Given the description of an element on the screen output the (x, y) to click on. 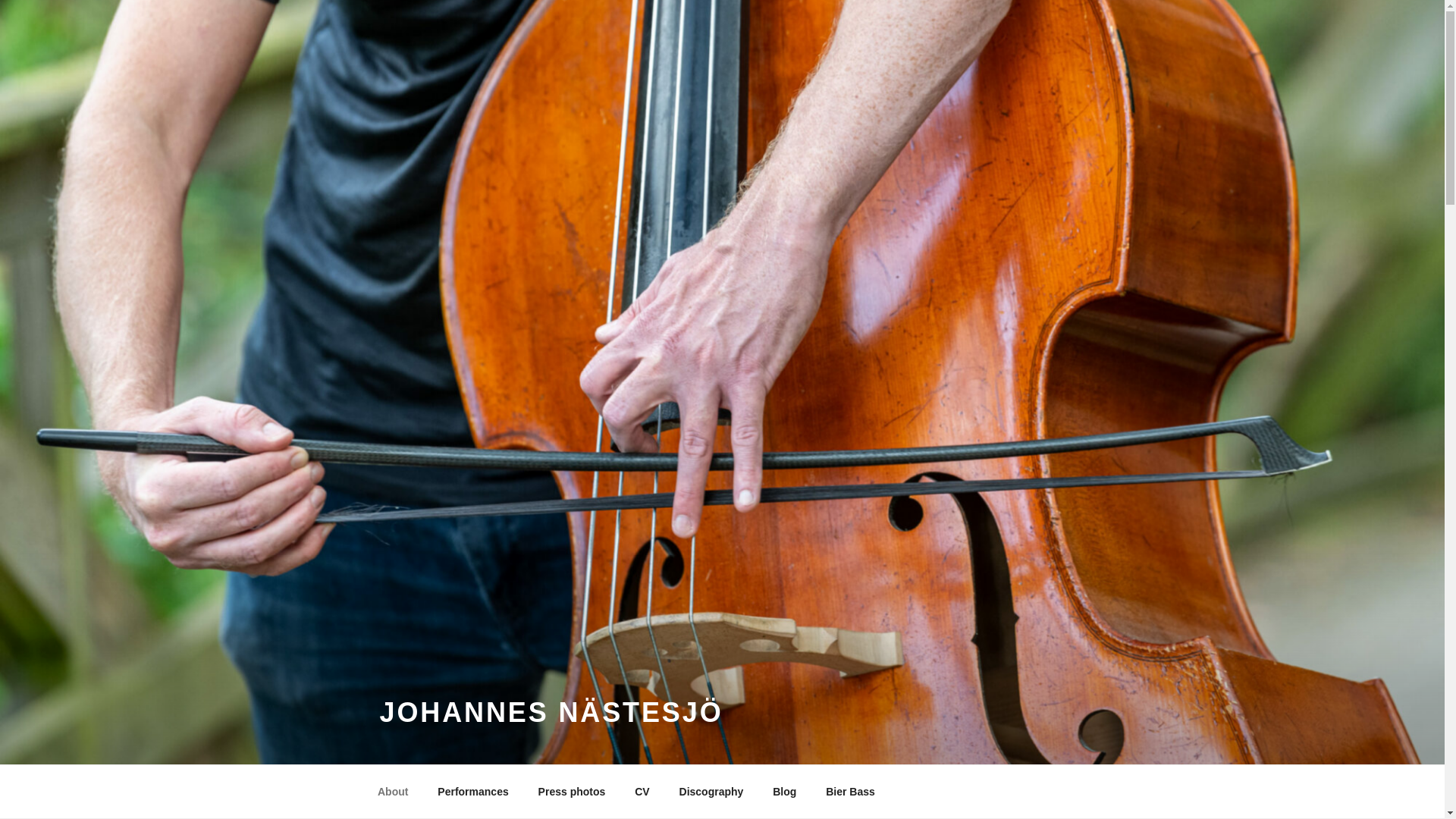
Performances (473, 791)
About (392, 791)
Blog (784, 791)
Press photos (571, 791)
Scroll down to content (1082, 791)
CV (641, 791)
Scroll down to content (1082, 791)
Discography (711, 791)
Bier Bass (850, 791)
